Given the description of an element on the screen output the (x, y) to click on. 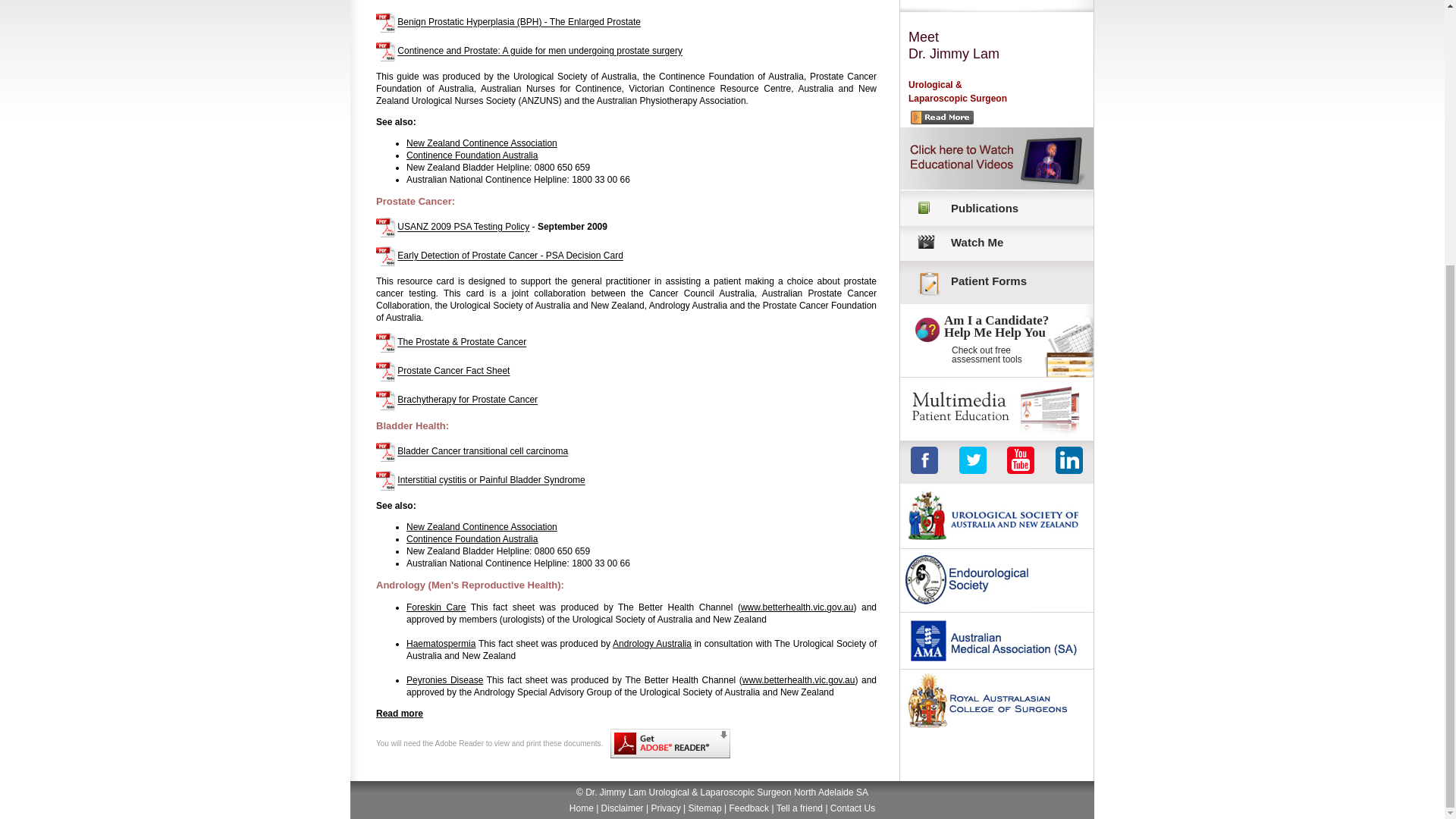
New Zealand Continence Association (481, 143)
Bladder Cancer transitional cell carcinoma (482, 451)
Interstitial cystitis or Painful Bladder Syndrome (491, 480)
New Zealand Continence Association (481, 526)
Continence Foundation Australia (471, 538)
Foreskin Care (435, 606)
Prostate Cancer Fact Sheet (453, 371)
Andrology Australia (651, 643)
Early Detection of Prostate Cancer - PSA Decision Card (510, 255)
Haematospermia (441, 643)
www.betterhealth.vic.gov.au (797, 606)
Brachytherapy for Prostate Cancer (467, 399)
USANZ 2009 PSA Testing Policy (463, 226)
Continence Foundation Australia (471, 154)
